Given the description of an element on the screen output the (x, y) to click on. 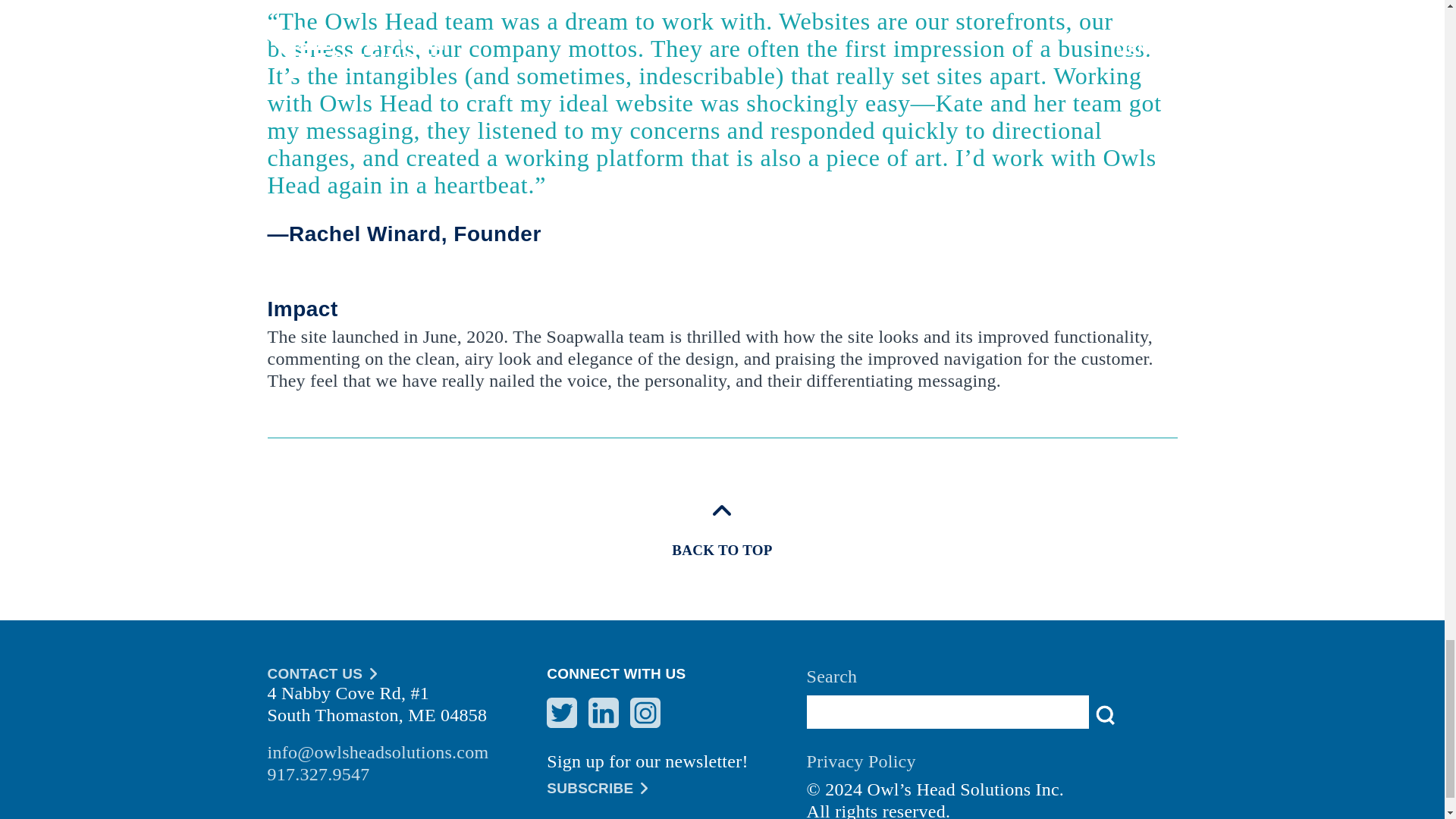
BACK TO TOP (721, 528)
Privacy Policy (991, 764)
CONTACT US (406, 673)
Search for (947, 711)
instagram (645, 712)
917.327.9547 (406, 774)
linked in (603, 712)
SUBSCRIBE (676, 788)
twitter (561, 712)
